Given the description of an element on the screen output the (x, y) to click on. 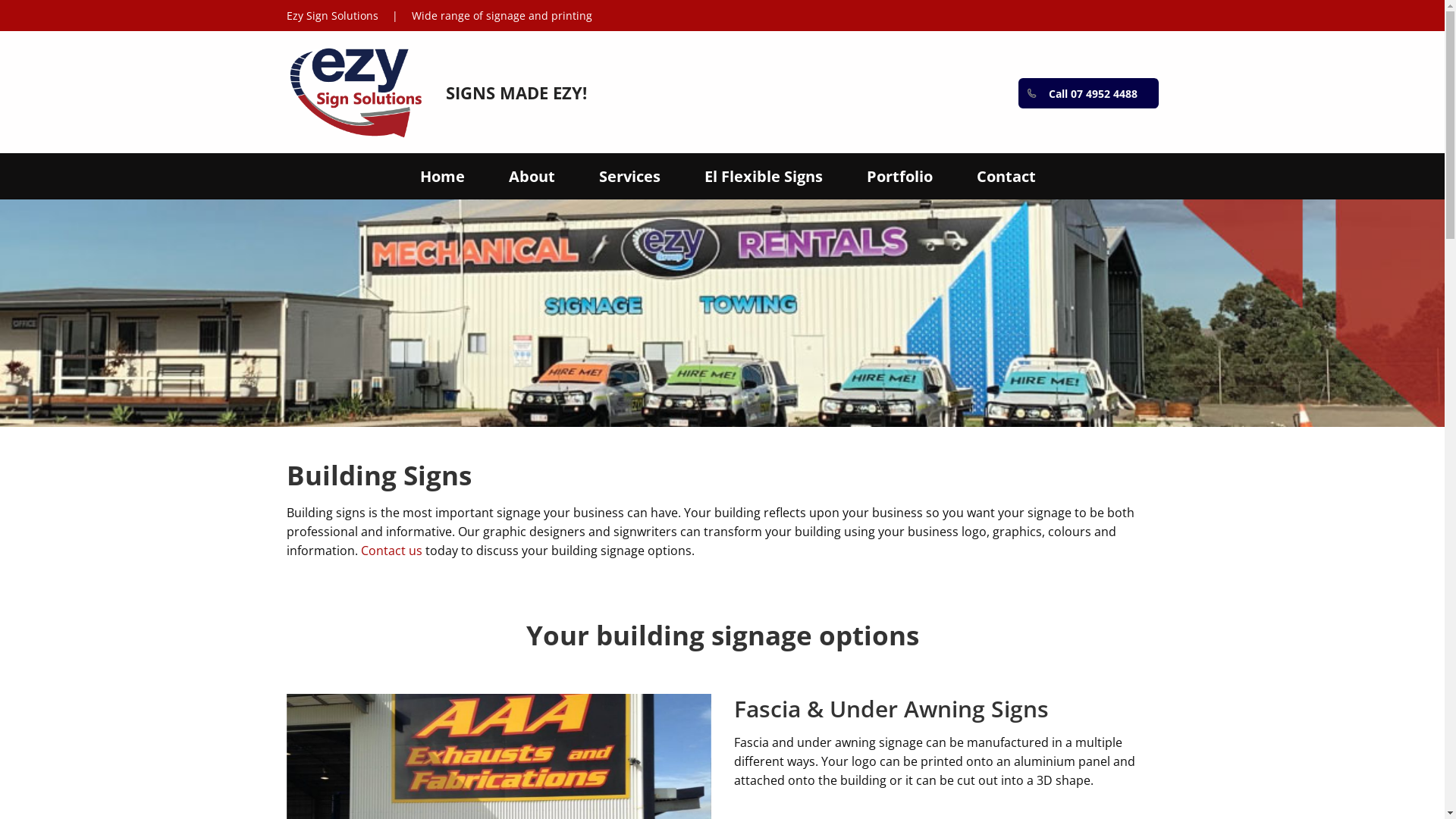
   Call 07 4952 4488 Element type: text (1087, 93)
El Flexible Signs Element type: text (763, 176)
Portfolio Element type: text (899, 176)
Home Element type: text (442, 176)
Contact Element type: text (1005, 176)
Ezy Sign Solutions in Mackay and servicing Moranbah Element type: hover (354, 91)
About Element type: text (531, 176)
Contact us Element type: text (391, 550)
Services Element type: text (629, 176)
